Given the description of an element on the screen output the (x, y) to click on. 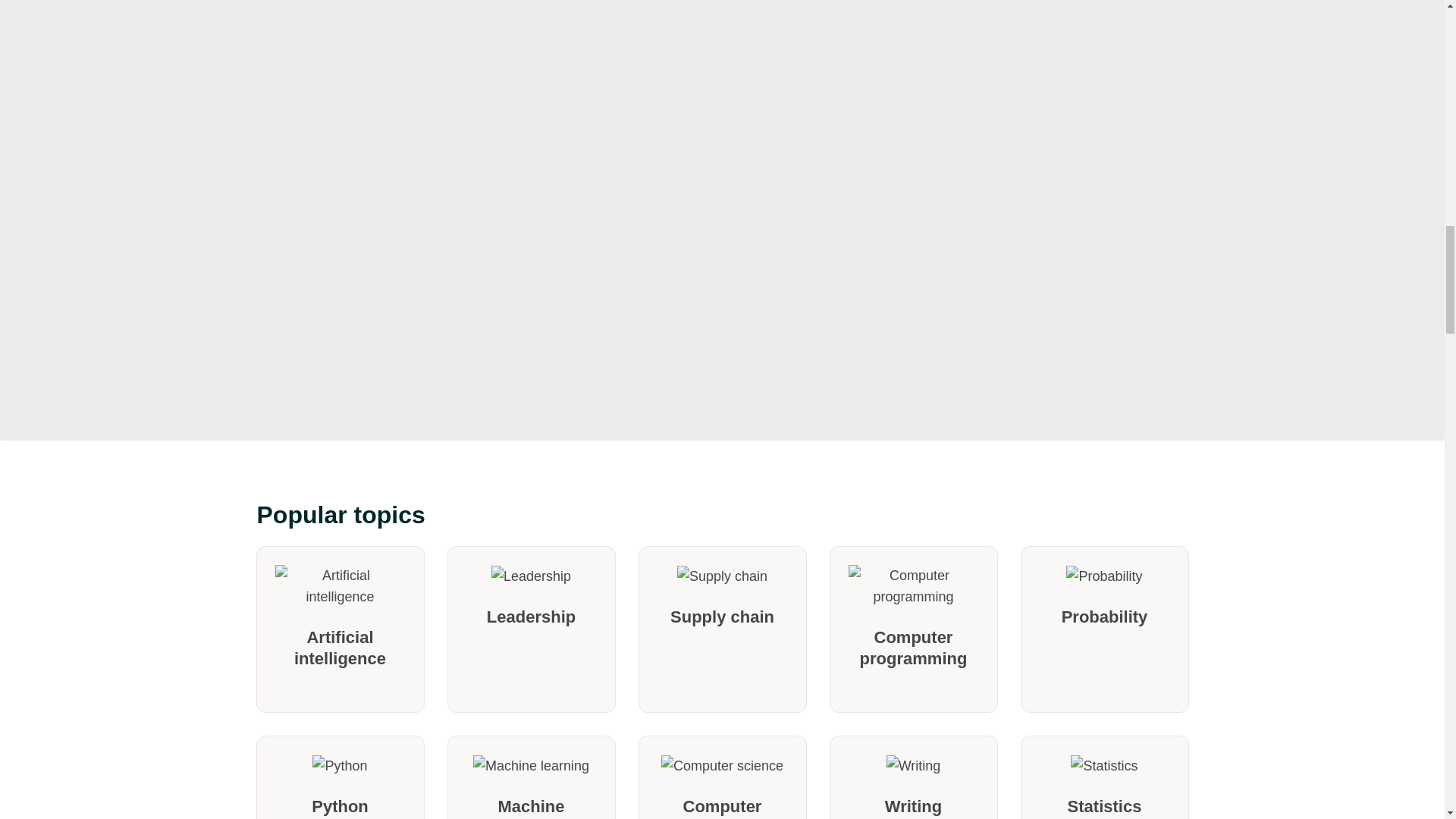
Python (340, 777)
Statistics (1104, 777)
Writing (913, 777)
Machine learning (530, 777)
Supply chain (722, 629)
Probability (1104, 629)
Computer science (722, 777)
Computer programming (913, 629)
Artificial intelligence (340, 629)
Leadership (530, 629)
